Given the description of an element on the screen output the (x, y) to click on. 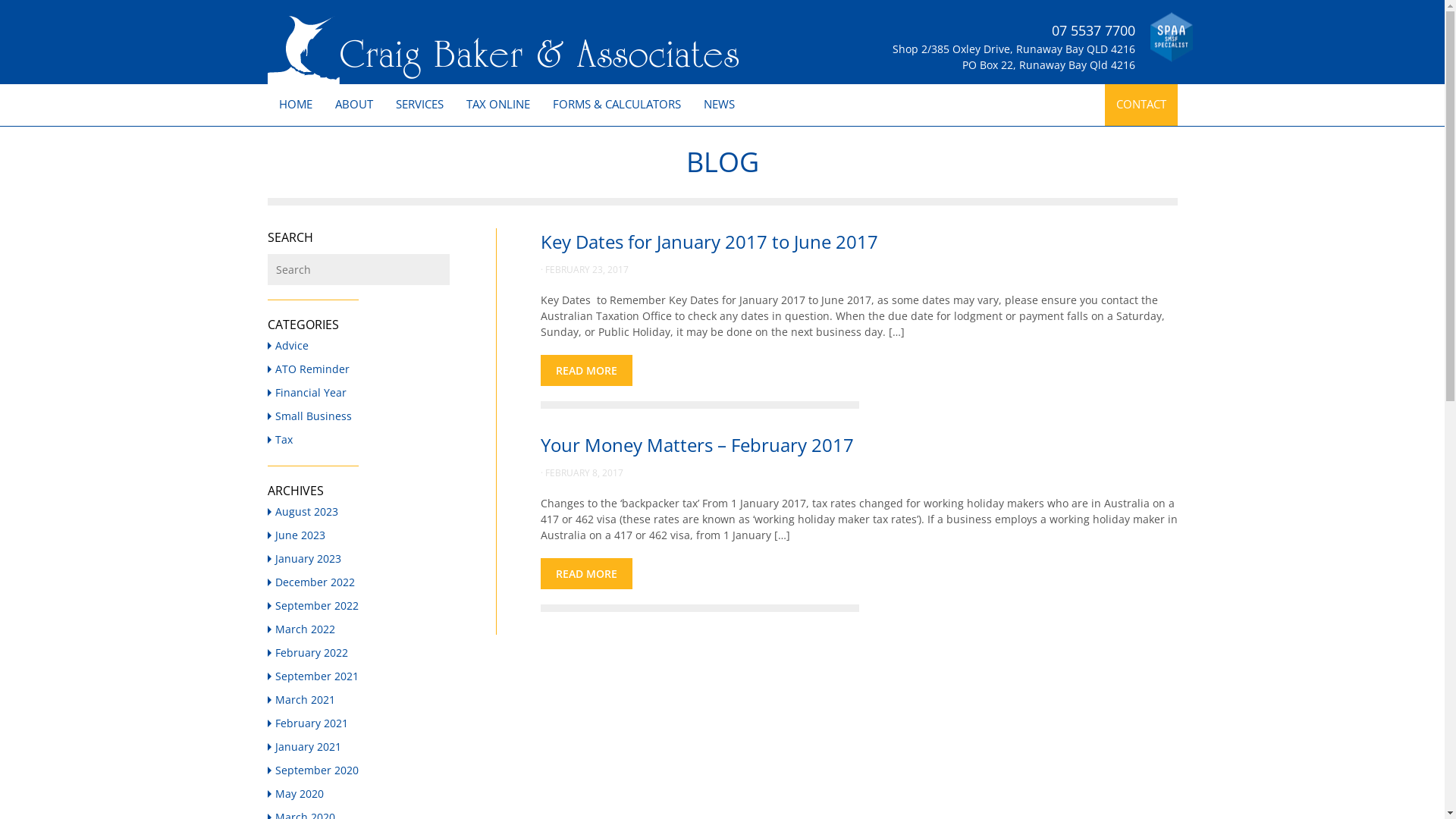
February 2022 Element type: text (309, 651)
FEBRUARY 8, 2017 Element type: text (583, 471)
Advice Element type: text (289, 345)
September 2022 Element type: text (314, 604)
December 2022 Element type: text (312, 581)
March 2022 Element type: text (303, 628)
September 2020 Element type: text (314, 769)
Financial Year Element type: text (308, 392)
Small Business Element type: text (311, 414)
TAX ONLINE Element type: text (498, 104)
READ MORE Element type: text (585, 369)
READ MORE Element type: text (585, 573)
June 2023 Element type: text (298, 534)
Tax Element type: text (281, 439)
ABOUT Element type: text (353, 104)
September 2021 Element type: text (314, 675)
Key Dates for January 2017 to June 2017 Element type: text (708, 241)
ATO Reminder Element type: text (310, 367)
February 2021 Element type: text (309, 722)
FORMS & CALCULATORS Element type: text (616, 104)
May 2020 Element type: text (297, 792)
January 2021 Element type: text (306, 745)
NEWS Element type: text (718, 104)
CONTACT Element type: text (1140, 104)
August 2023 Element type: text (304, 510)
Craig Baker Element type: hover (501, 49)
HOME Element type: text (294, 104)
SERVICES Element type: text (418, 104)
March 2021 Element type: text (303, 698)
FEBRUARY 23, 2017 Element type: text (585, 268)
January 2023 Element type: text (306, 557)
